Given the description of an element on the screen output the (x, y) to click on. 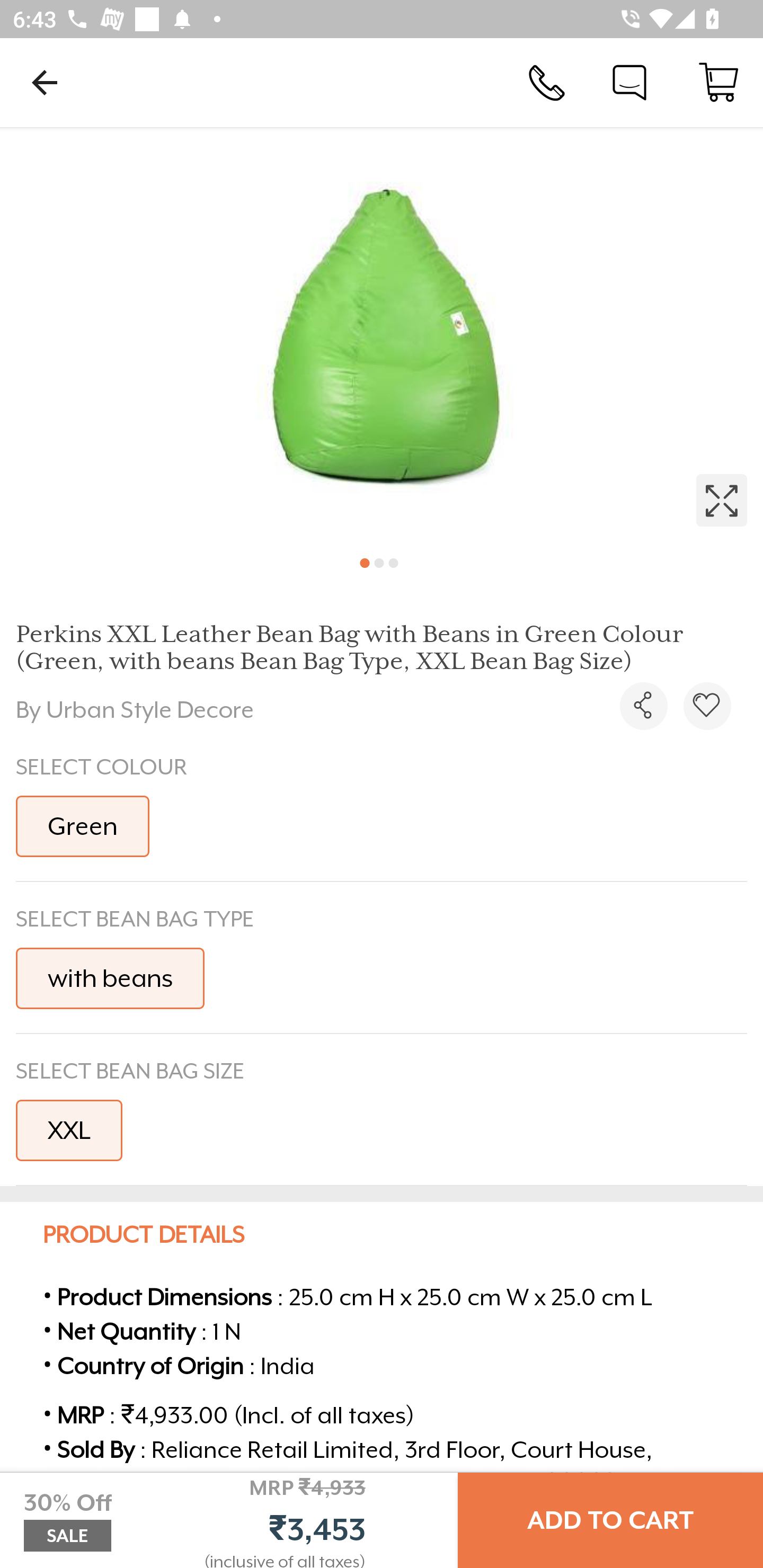
Navigate up (44, 82)
Call Us (546, 81)
Chat (629, 81)
Cart (718, 81)
 (381, 334)
 (643, 706)
 (706, 706)
Green (82, 825)
with beans (110, 978)
XXL (69, 1130)
ADD TO CART (610, 1520)
